Given the description of an element on the screen output the (x, y) to click on. 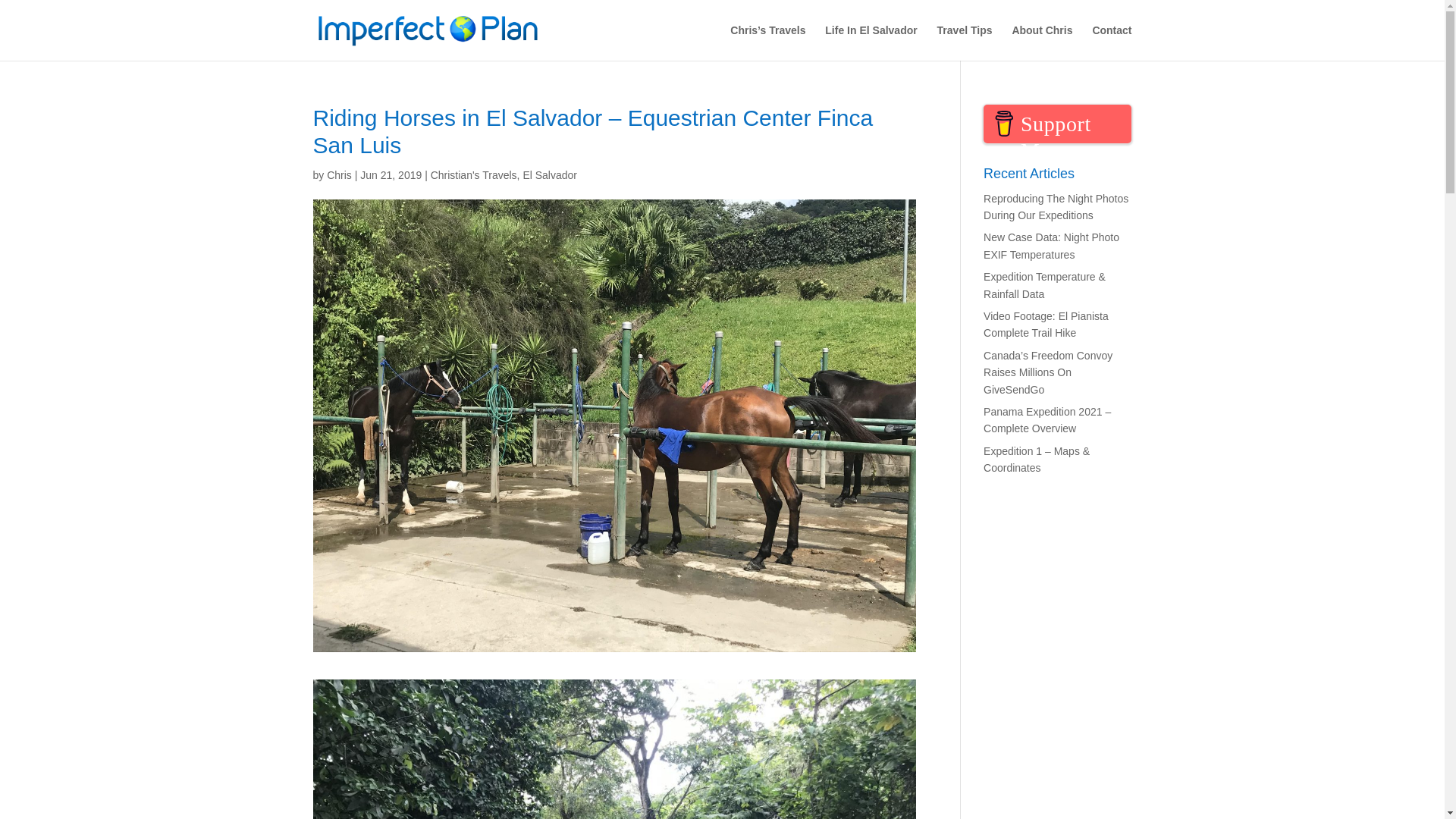
El Salvador (549, 174)
Posts by Chris (339, 174)
Contact (1111, 42)
About Chris (1041, 42)
Life In El Salvador (871, 42)
Reproducing The Night Photos During Our Expeditions (1056, 206)
Video Footage: El Pianista Complete Trail Hike (1046, 324)
New Case Data: Night Photo EXIF Temperatures (1051, 245)
Support Me (1057, 123)
Christian's Travels (473, 174)
Chris (339, 174)
Travel Tips (964, 42)
